Given the description of an element on the screen output the (x, y) to click on. 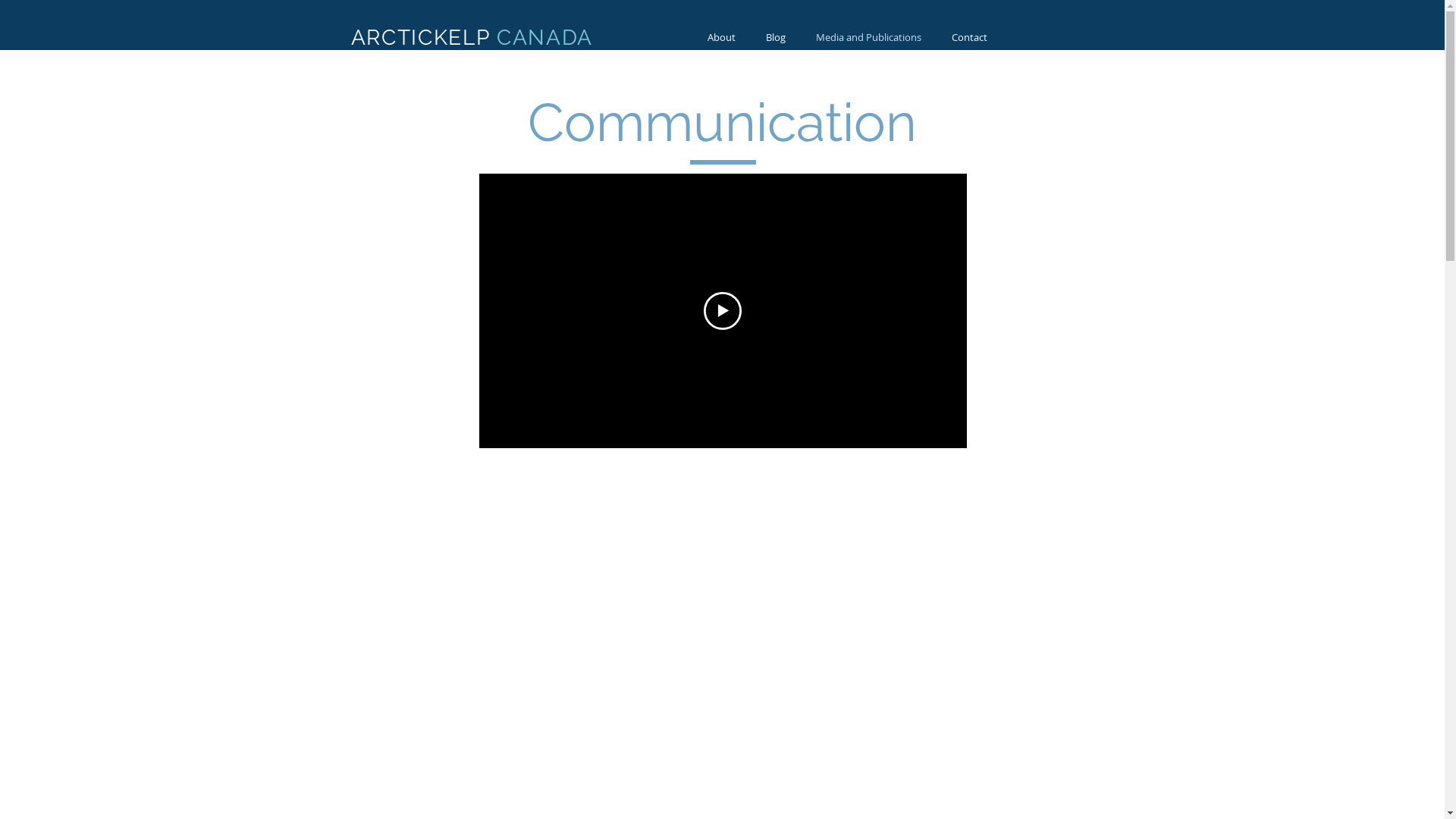
Blog Element type: text (775, 37)
About Element type: text (720, 37)
Media and Publications Element type: text (868, 37)
ARCTICKELP CANADA Element type: text (471, 37)
Contact Element type: text (968, 37)
